Given the description of an element on the screen output the (x, y) to click on. 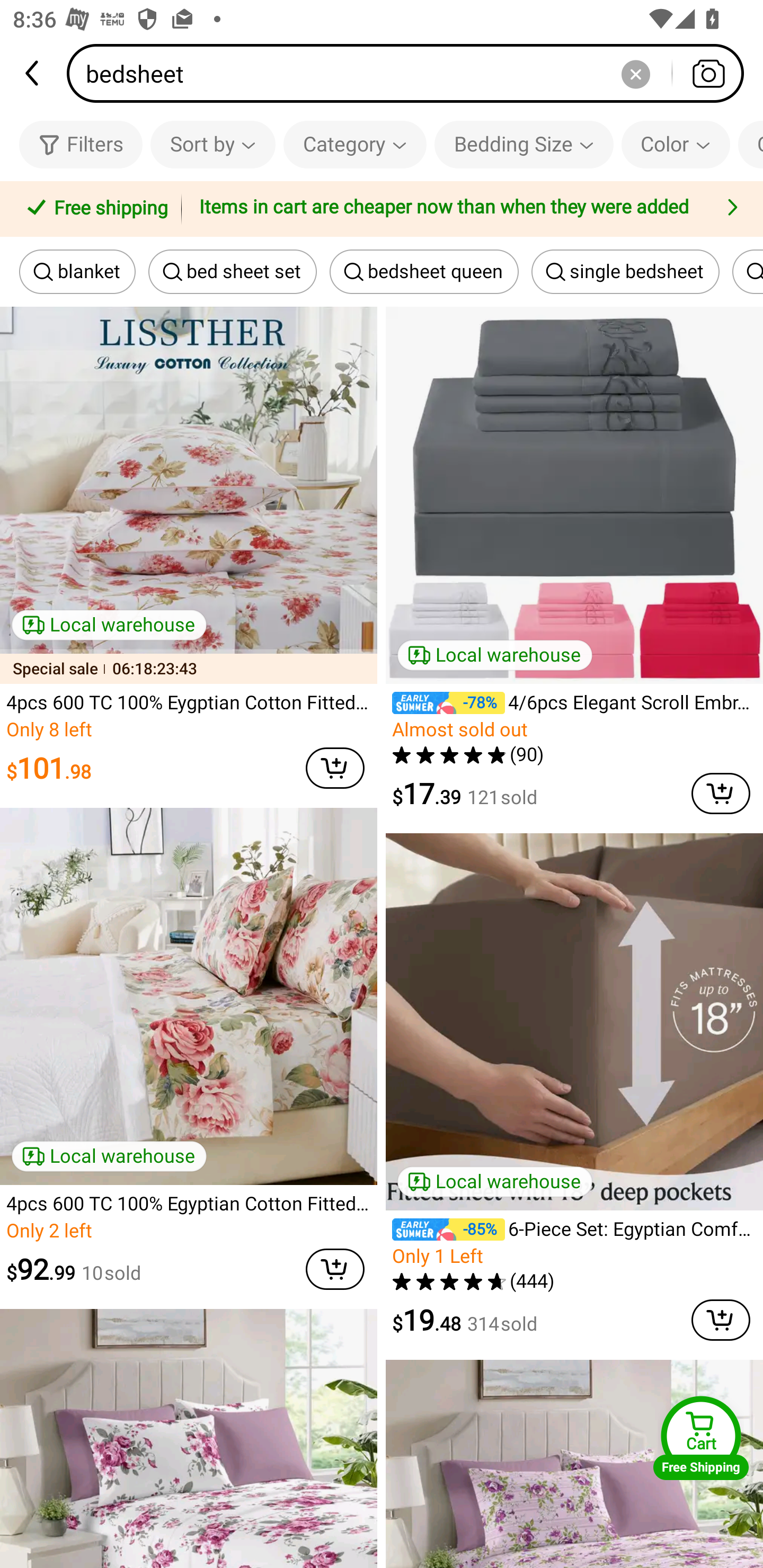
back (33, 72)
bedsheet (411, 73)
Delete search history (635, 73)
Search by photo (708, 73)
Filters (80, 143)
Sort by (212, 143)
Category (354, 143)
Bedding Size (523, 143)
Color (675, 143)
 Free shipping (93, 208)
blanket (77, 271)
bed sheet set (232, 271)
bedsheet queen (423, 271)
single bedsheet (625, 271)
